Given the description of an element on the screen output the (x, y) to click on. 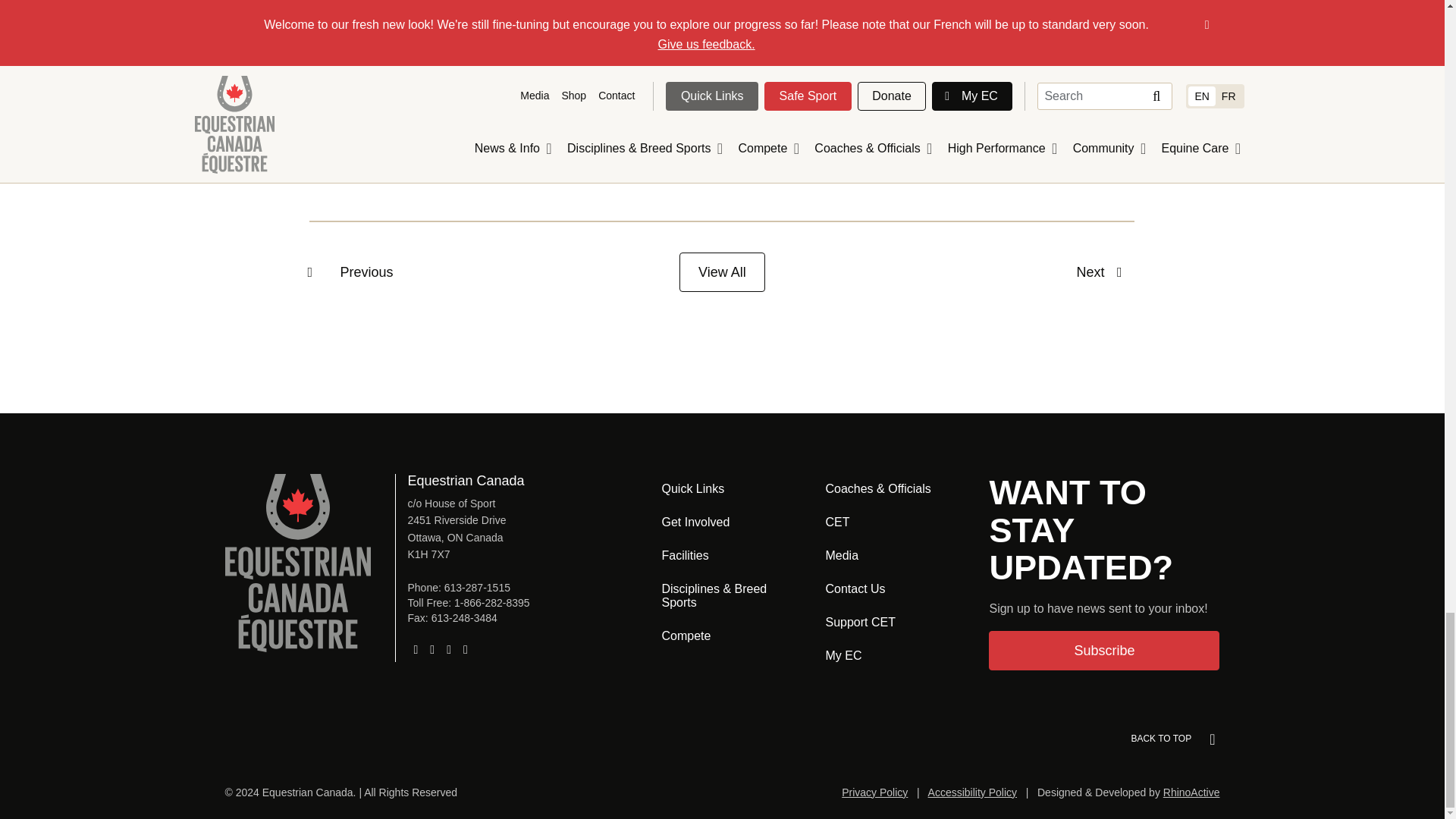
Equestrian Canada Twitter (449, 649)
Equestrian Canada Instagram (432, 649)
Equestrian Canada Facebook (416, 649)
Equestrian Canada Youtube (465, 649)
